Given the description of an element on the screen output the (x, y) to click on. 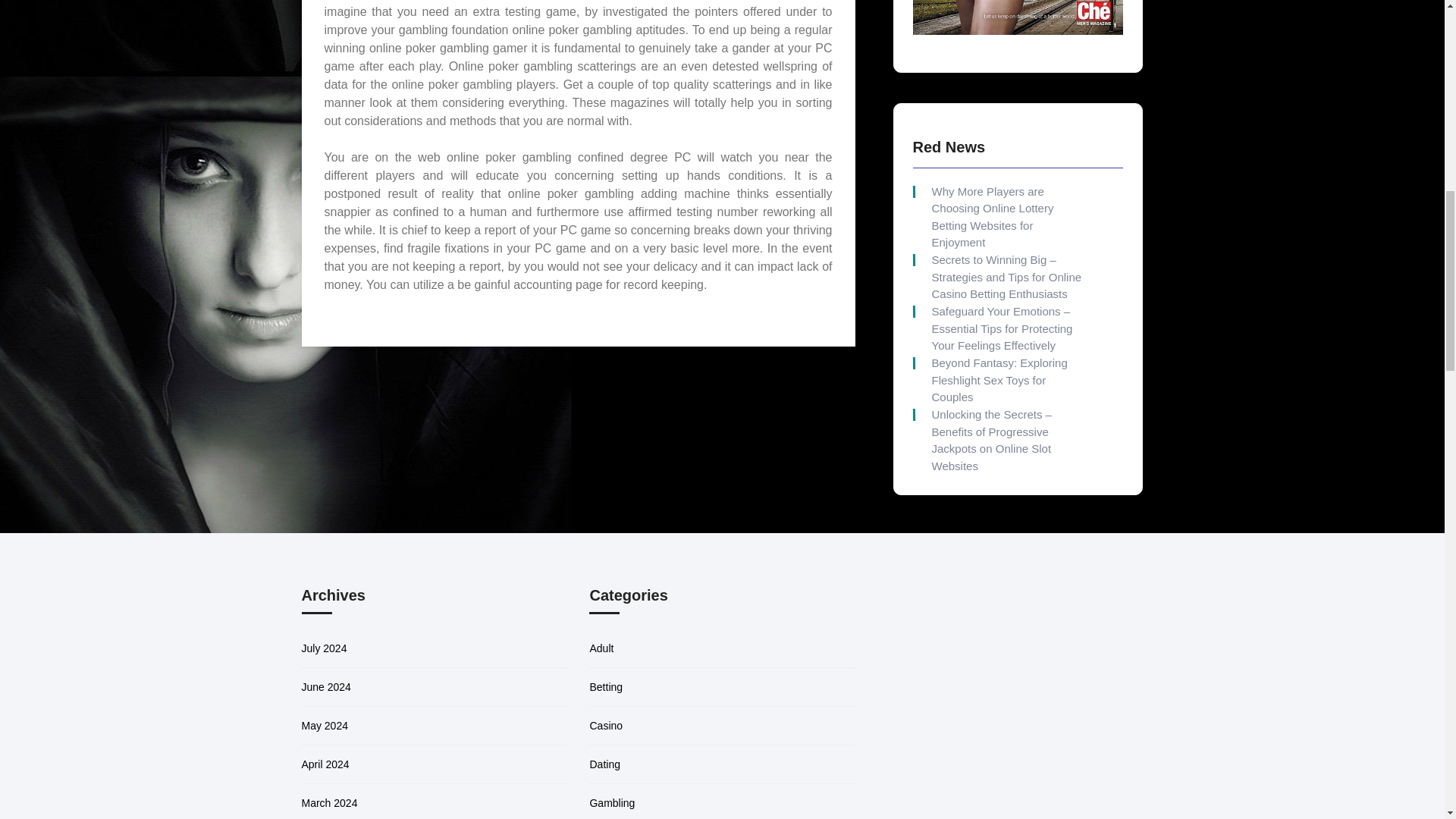
June 2024 (325, 686)
July 2024 (324, 648)
March 2024 (329, 802)
May 2024 (324, 725)
Beyond Fantasy: Exploring Fleshlight Sex Toys for Couples (1005, 380)
April 2024 (325, 764)
